Given the description of an element on the screen output the (x, y) to click on. 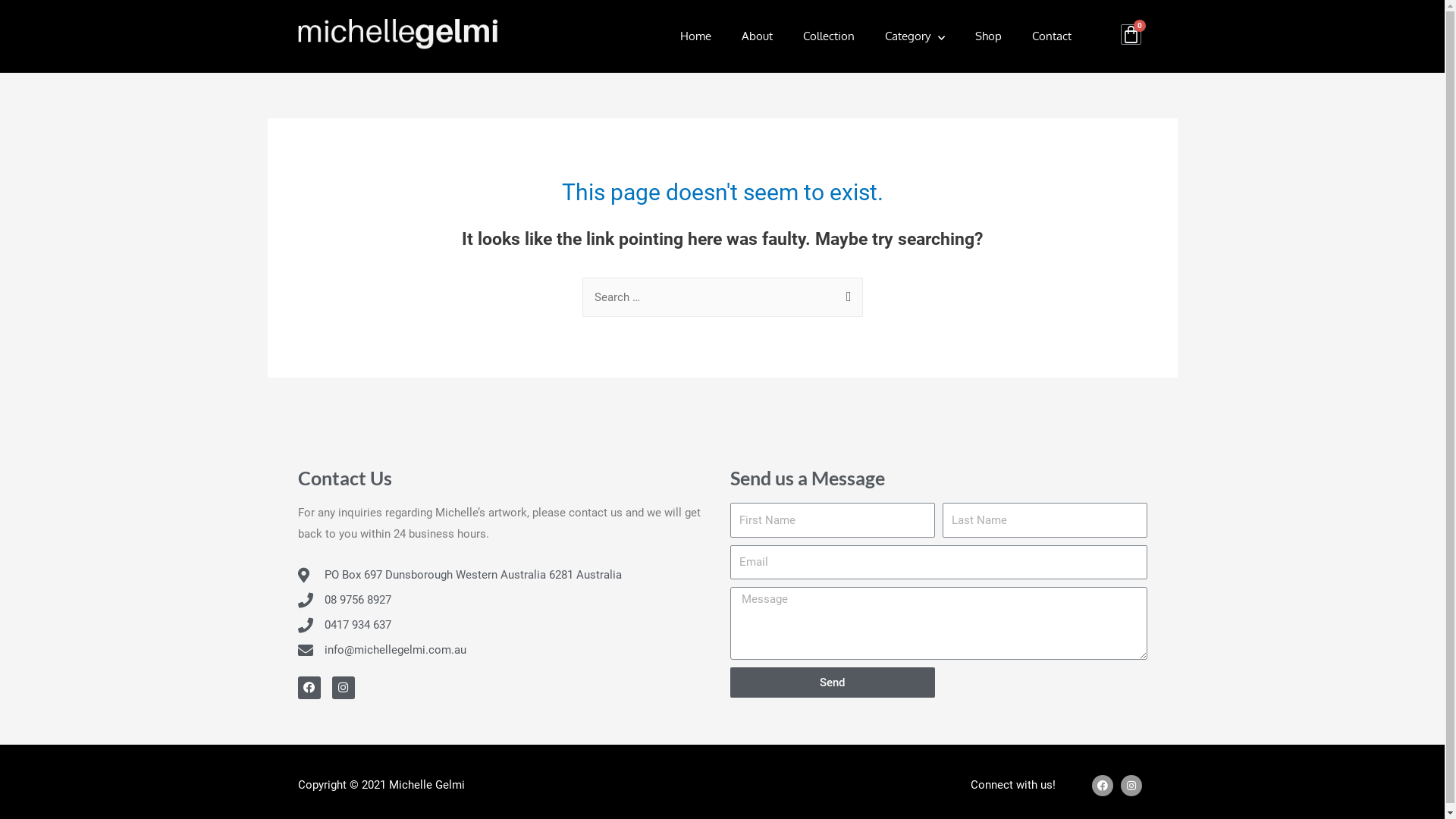
Search Element type: text (845, 292)
0417 934 637 Element type: text (505, 625)
Send Element type: text (831, 682)
info@michellegelmi.com.au Element type: text (505, 650)
Collection Element type: text (828, 35)
Category Element type: text (914, 35)
08 9756 8927 Element type: text (505, 600)
Shop Element type: text (988, 35)
Contact Element type: text (1051, 35)
Home Element type: text (695, 35)
About Element type: text (756, 35)
